Given the description of an element on the screen output the (x, y) to click on. 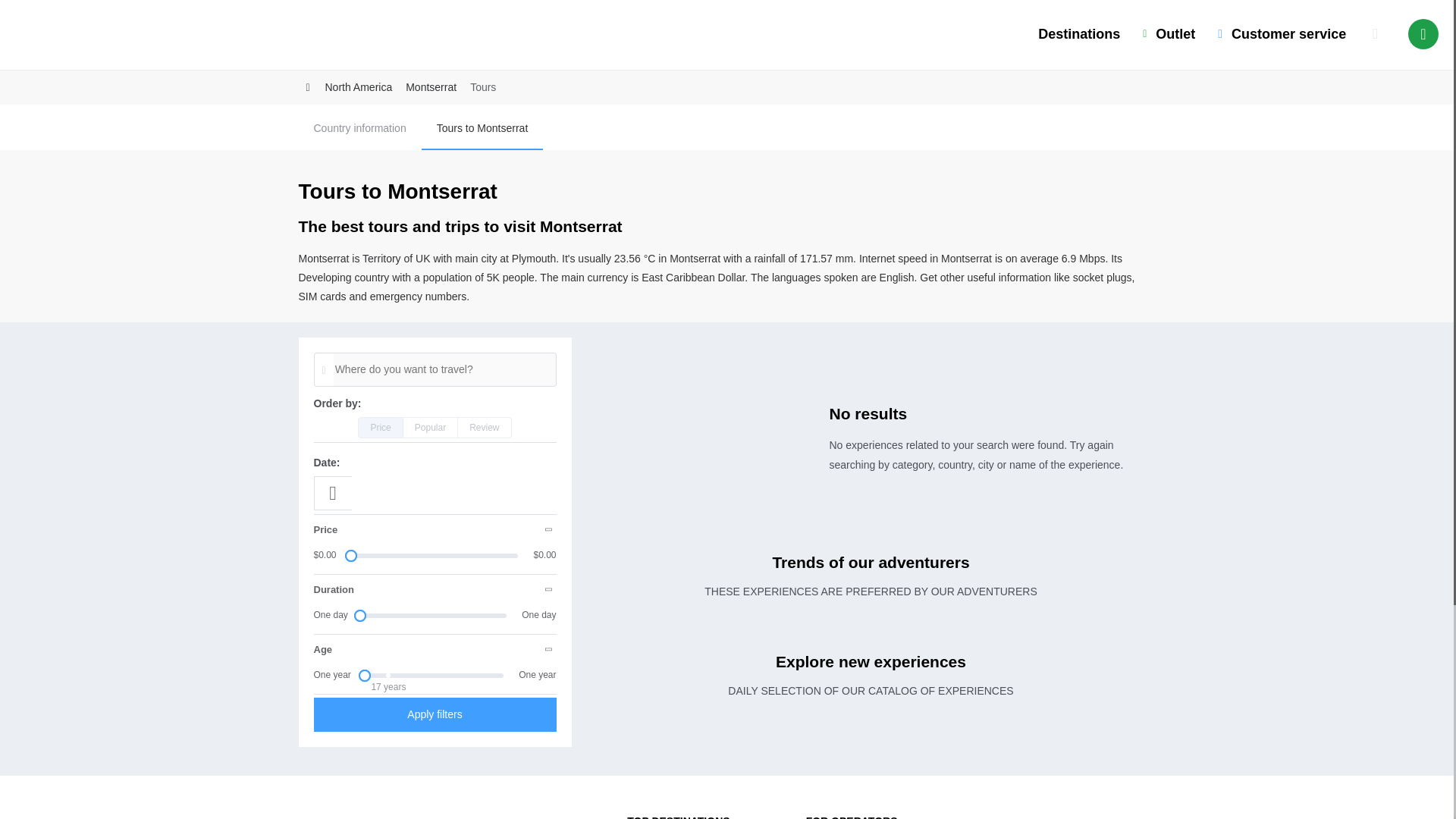
LocalAdventures (347, 813)
LocalAdventures (63, 37)
shopping-cart (1374, 33)
